Given the description of an element on the screen output the (x, y) to click on. 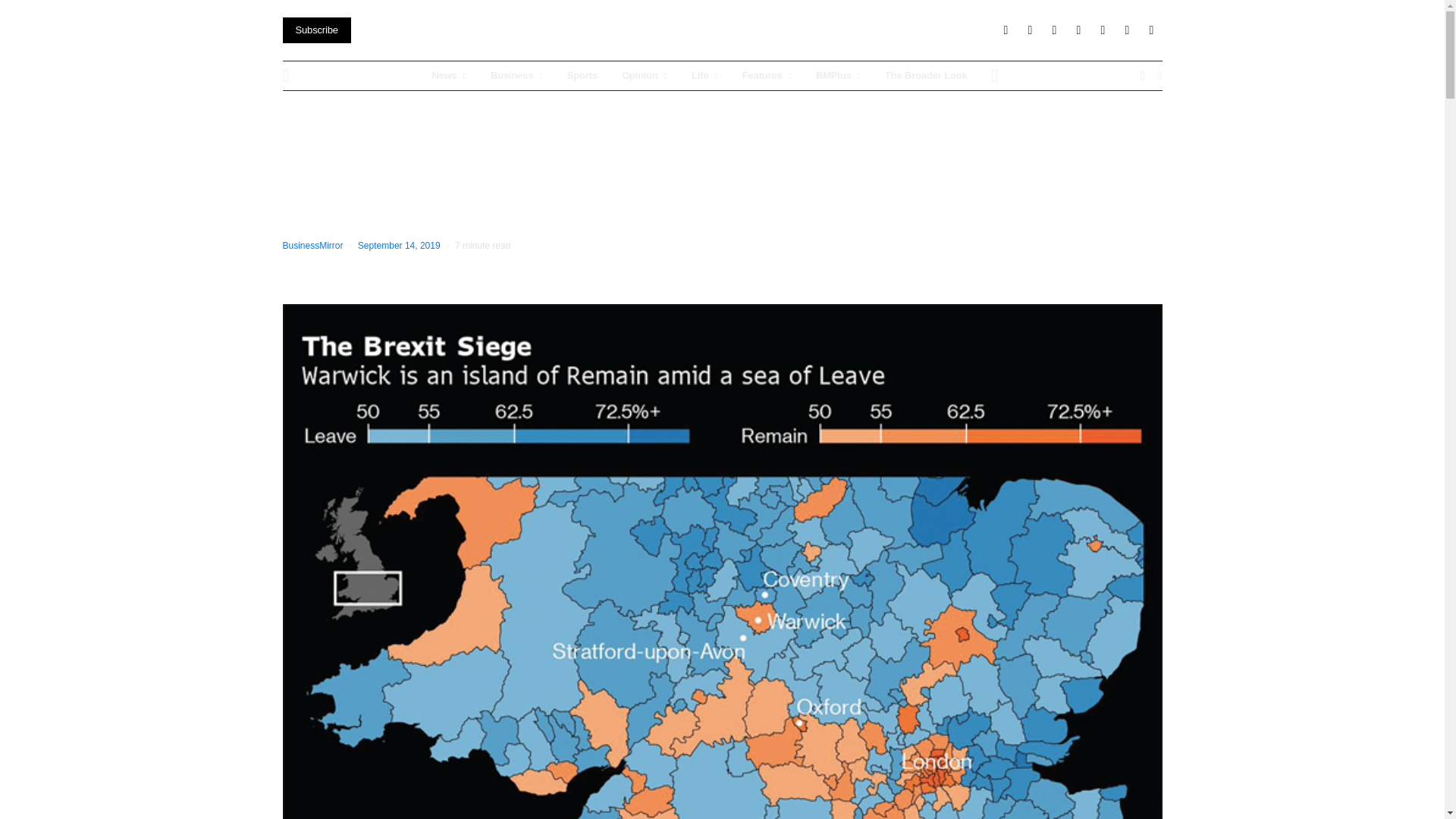
View all posts by BusinessMirror (312, 245)
